Given the description of an element on the screen output the (x, y) to click on. 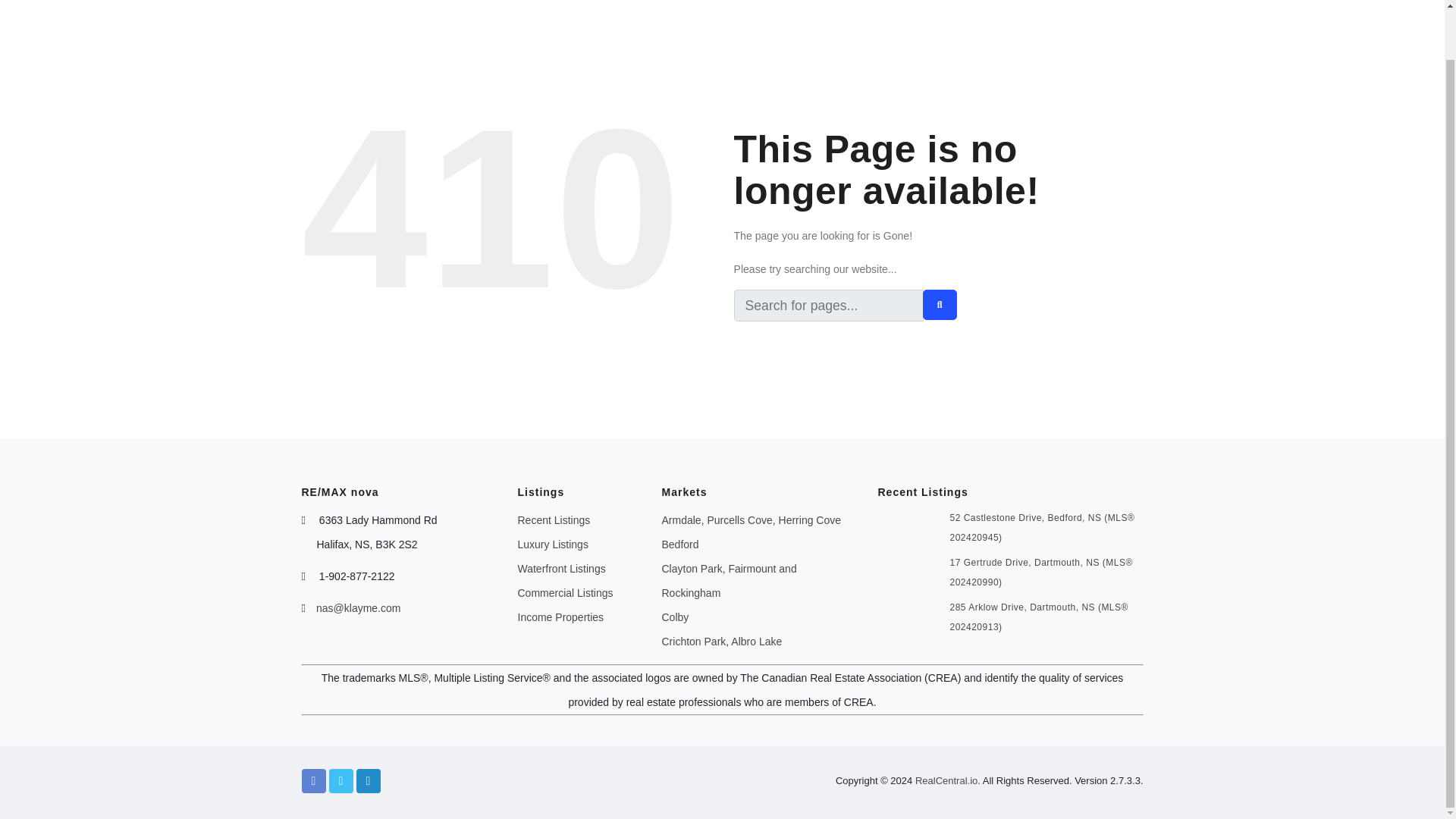
Twitter (341, 781)
RealCentral.io (945, 780)
LinkedIn (368, 781)
Facebook (313, 781)
